Given the description of an element on the screen output the (x, y) to click on. 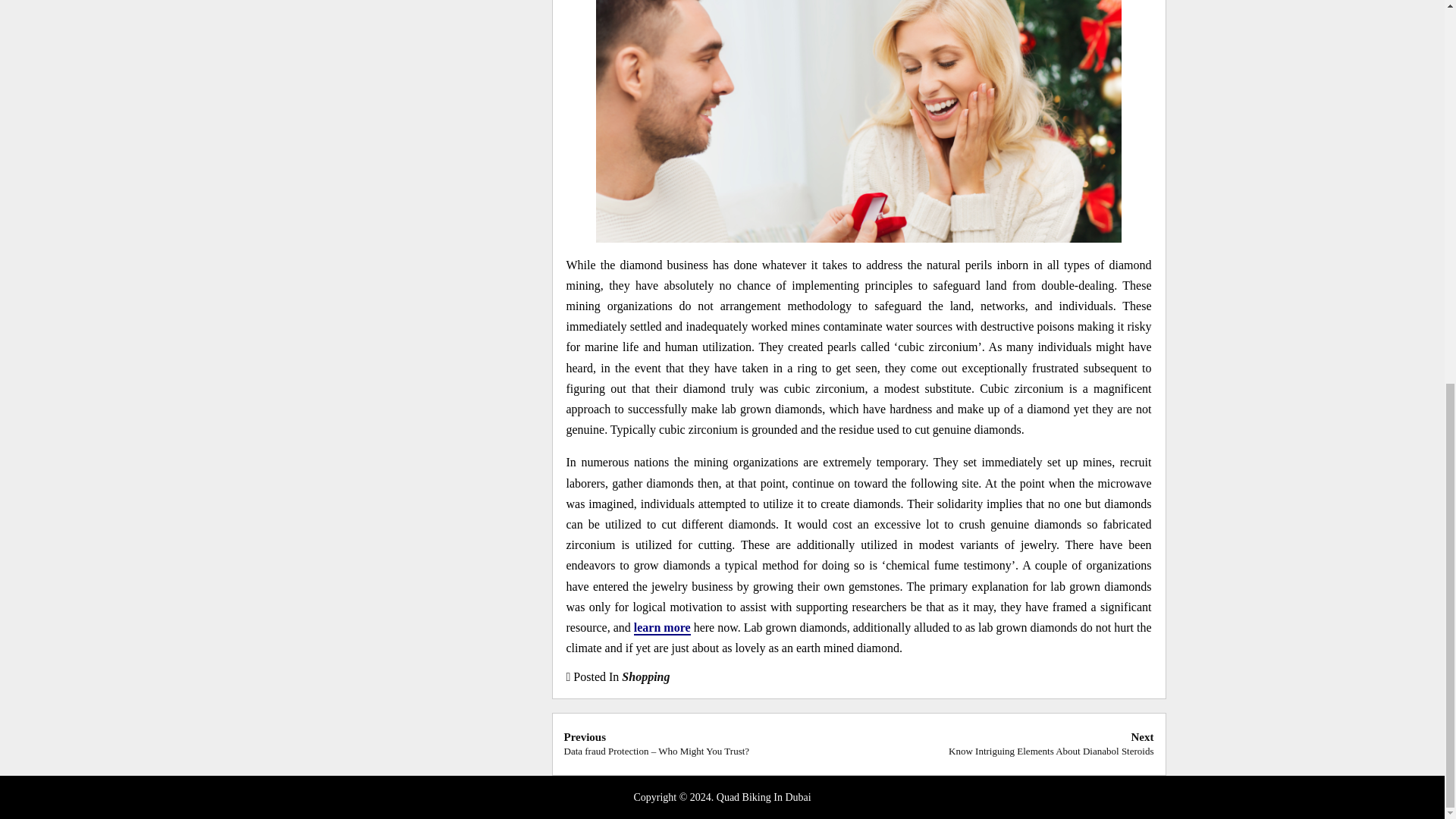
Shopping (645, 676)
Quad Biking In Dubai (763, 797)
learn more (661, 627)
